Given the description of an element on the screen output the (x, y) to click on. 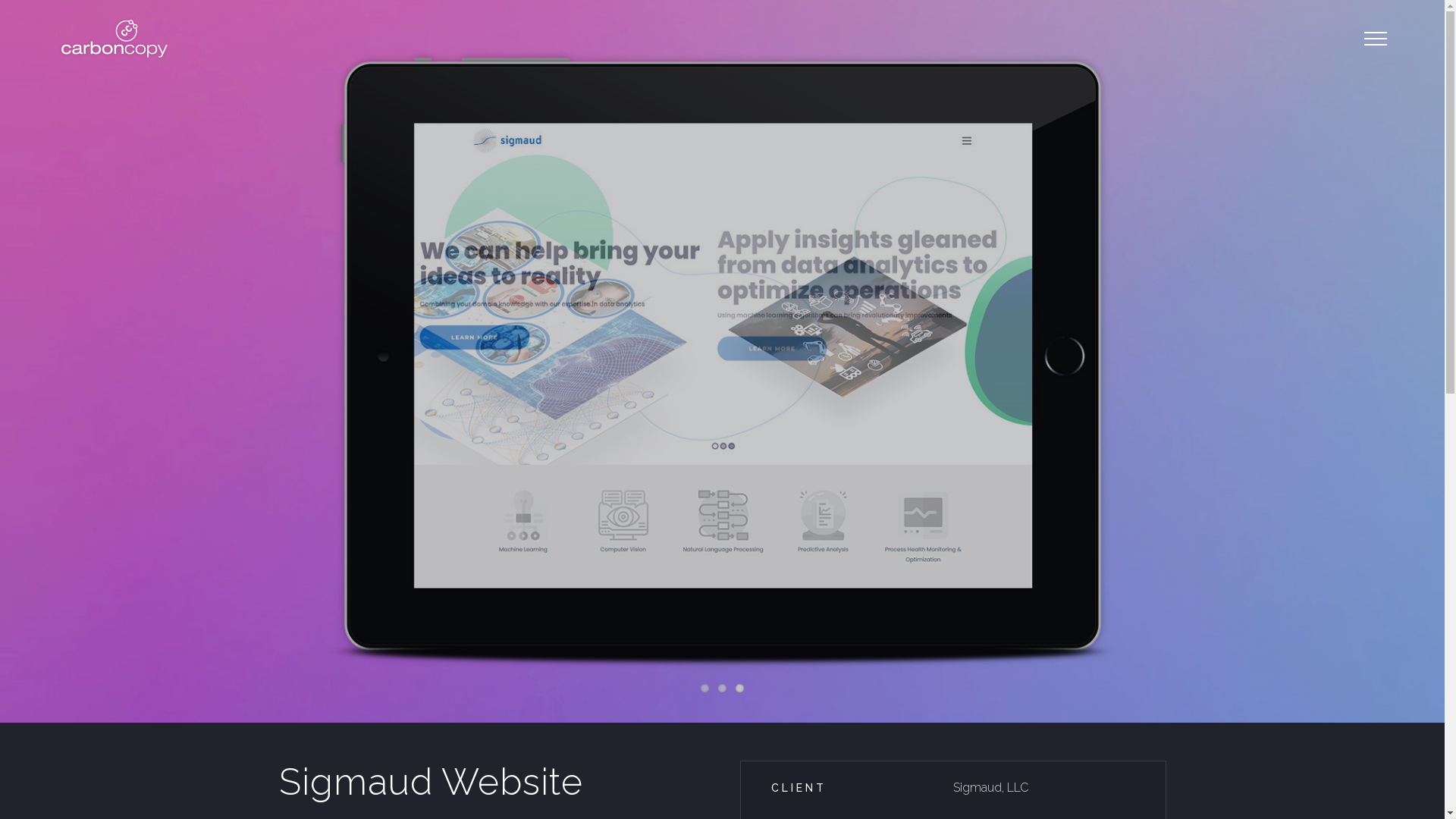
3 Element type: text (739, 688)
1 Element type: text (704, 688)
2 Element type: text (722, 688)
